Given the description of an element on the screen output the (x, y) to click on. 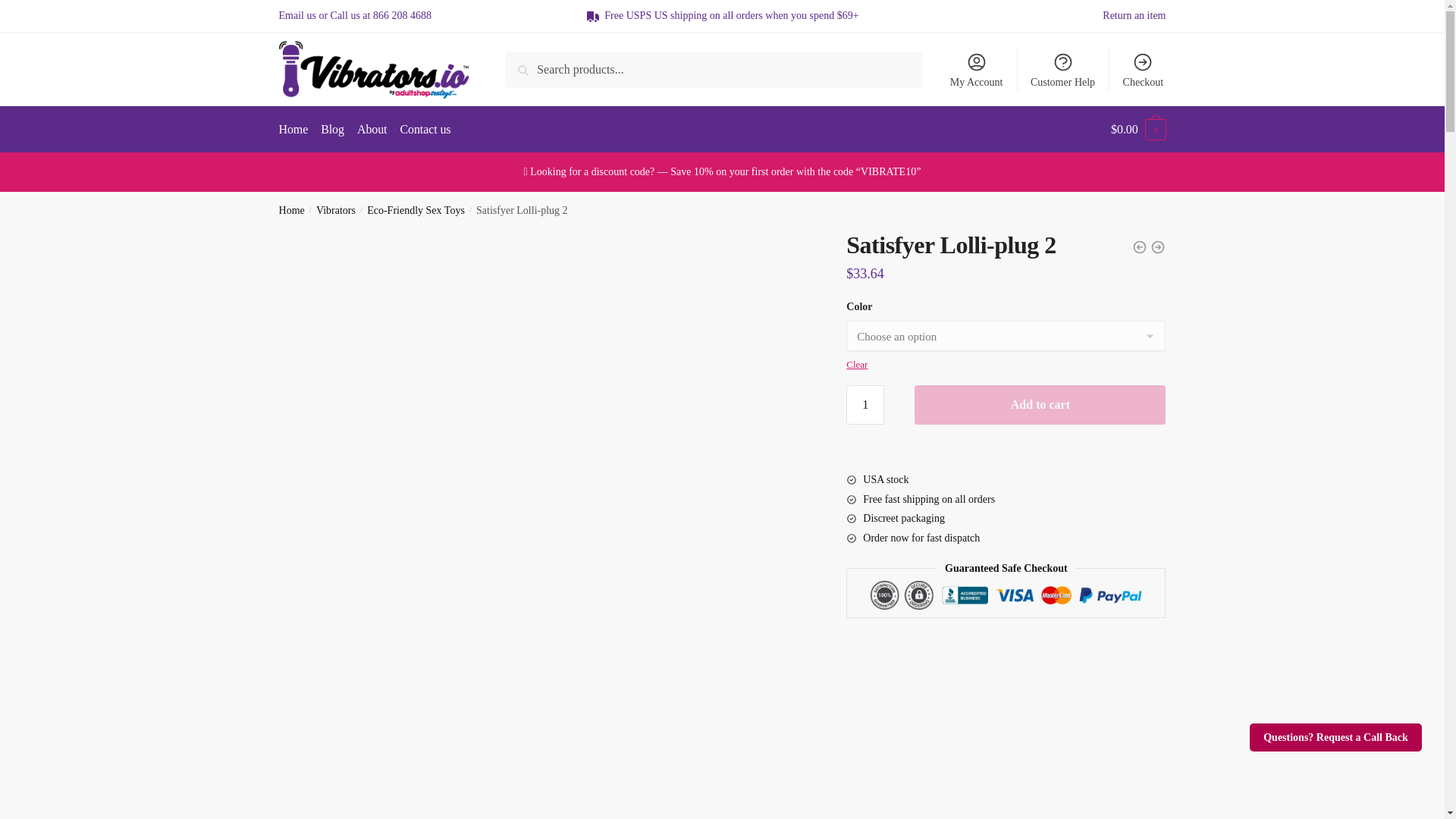
About (371, 129)
View your shopping cart (1138, 129)
Vibrators (335, 210)
Eco-Friendly Sex Toys (415, 210)
Search (539, 69)
Email us (297, 15)
1 (864, 404)
Return an item (1134, 16)
Contact us (425, 129)
My Account (975, 69)
Customer Help (1063, 69)
Add to cart (1040, 404)
Questions? Request a Call Back (1335, 737)
Send (525, 541)
Clear (856, 364)
